Given the description of an element on the screen output the (x, y) to click on. 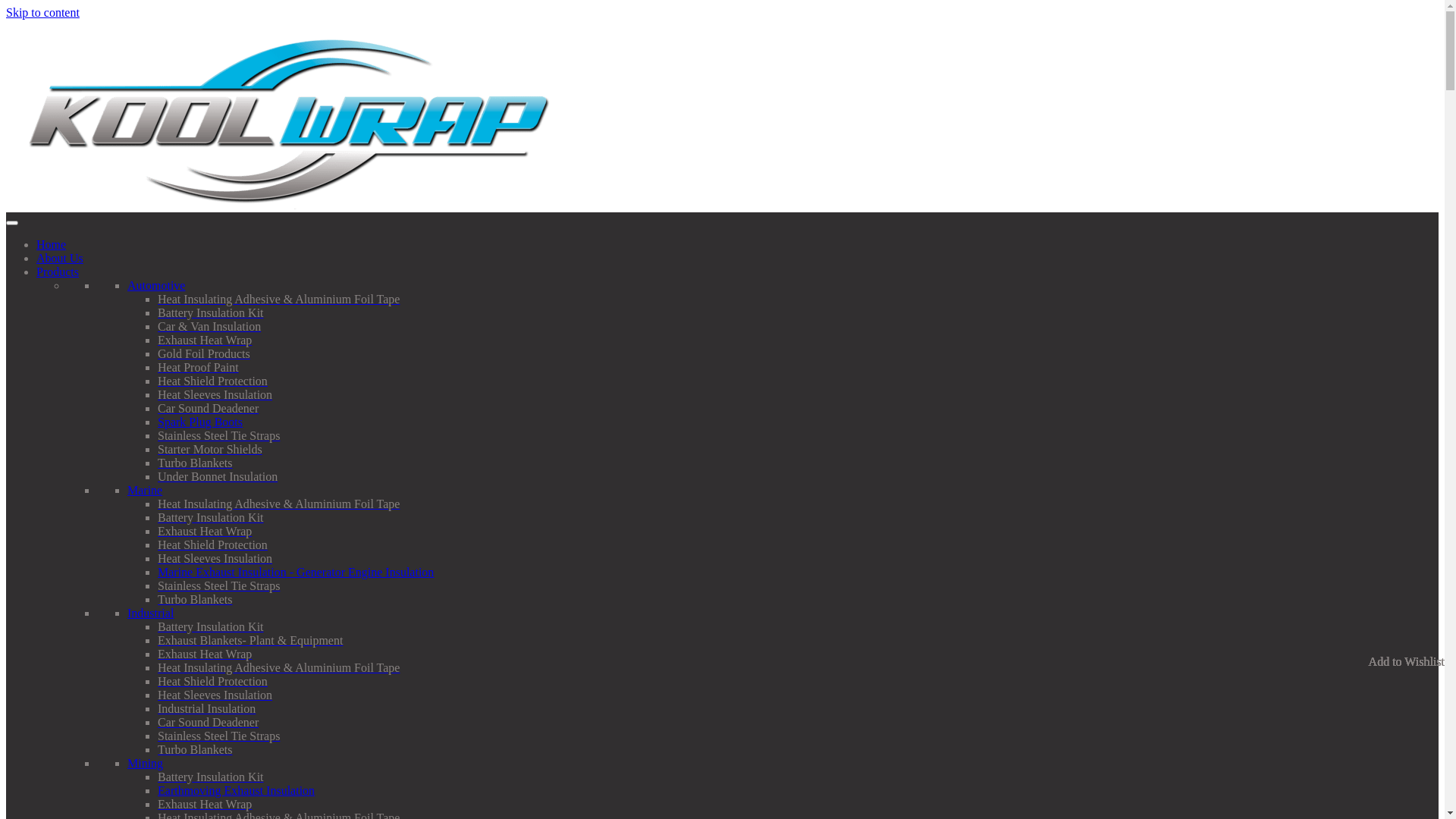
Industrial Insulation Element type: text (206, 708)
Heat Insulating Adhesive & Aluminium Foil Tape Element type: text (278, 298)
Skip to content Element type: text (42, 12)
Battery Insulation Kit Element type: text (210, 312)
Starter Motor Shields Element type: text (209, 448)
Stainless Steel Tie Straps Element type: text (218, 735)
Mining Element type: text (145, 762)
Products Element type: text (57, 271)
Heat Sleeves Insulation Element type: text (214, 694)
Automotive Element type: text (156, 285)
Industrial Element type: text (150, 612)
Car & Van Insulation Element type: text (208, 326)
Battery Insulation Kit Element type: text (210, 626)
Exhaust Heat Wrap Element type: text (204, 530)
Exhaust Blankets- Plant & Equipment Element type: text (249, 639)
Heat Proof Paint Element type: text (197, 366)
About Us Element type: text (59, 257)
Turbo Blankets Element type: text (194, 462)
Stainless Steel Tie Straps Element type: text (218, 435)
Exhaust Heat Wrap Element type: text (204, 339)
Heat Shield Protection Element type: text (212, 380)
Home Element type: text (50, 244)
Earthmoving Exhaust Insulation Element type: text (235, 790)
Under Bonnet Insulation Element type: text (217, 476)
Spark Plug Boots Element type: text (199, 421)
Heat Sleeves Insulation Element type: text (214, 558)
Gold Foil Products Element type: text (203, 353)
Battery Insulation Kit Element type: text (210, 517)
Exhaust Heat Wrap Element type: text (204, 653)
Heat Insulating Adhesive & Aluminium Foil Tape Element type: text (278, 503)
Heat Shield Protection Element type: text (212, 544)
Heat Shield Protection Element type: text (212, 680)
Exhaust Heat Wrap Element type: text (204, 803)
Turbo Blankets Element type: text (194, 599)
Heat Sleeves Insulation Element type: text (214, 394)
Marine Exhaust Insulation - Generator Engine Insulation Element type: text (295, 571)
Heat Insulating Adhesive & Aluminium Foil Tape Element type: text (278, 667)
Battery Insulation Kit Element type: text (210, 776)
Marine Element type: text (144, 489)
Stainless Steel Tie Straps Element type: text (218, 585)
Turbo Blankets Element type: text (194, 749)
Add to Wishlist Element type: text (1406, 661)
Car Sound Deadener Element type: text (207, 721)
Car Sound Deadener Element type: text (207, 407)
